Given the description of an element on the screen output the (x, y) to click on. 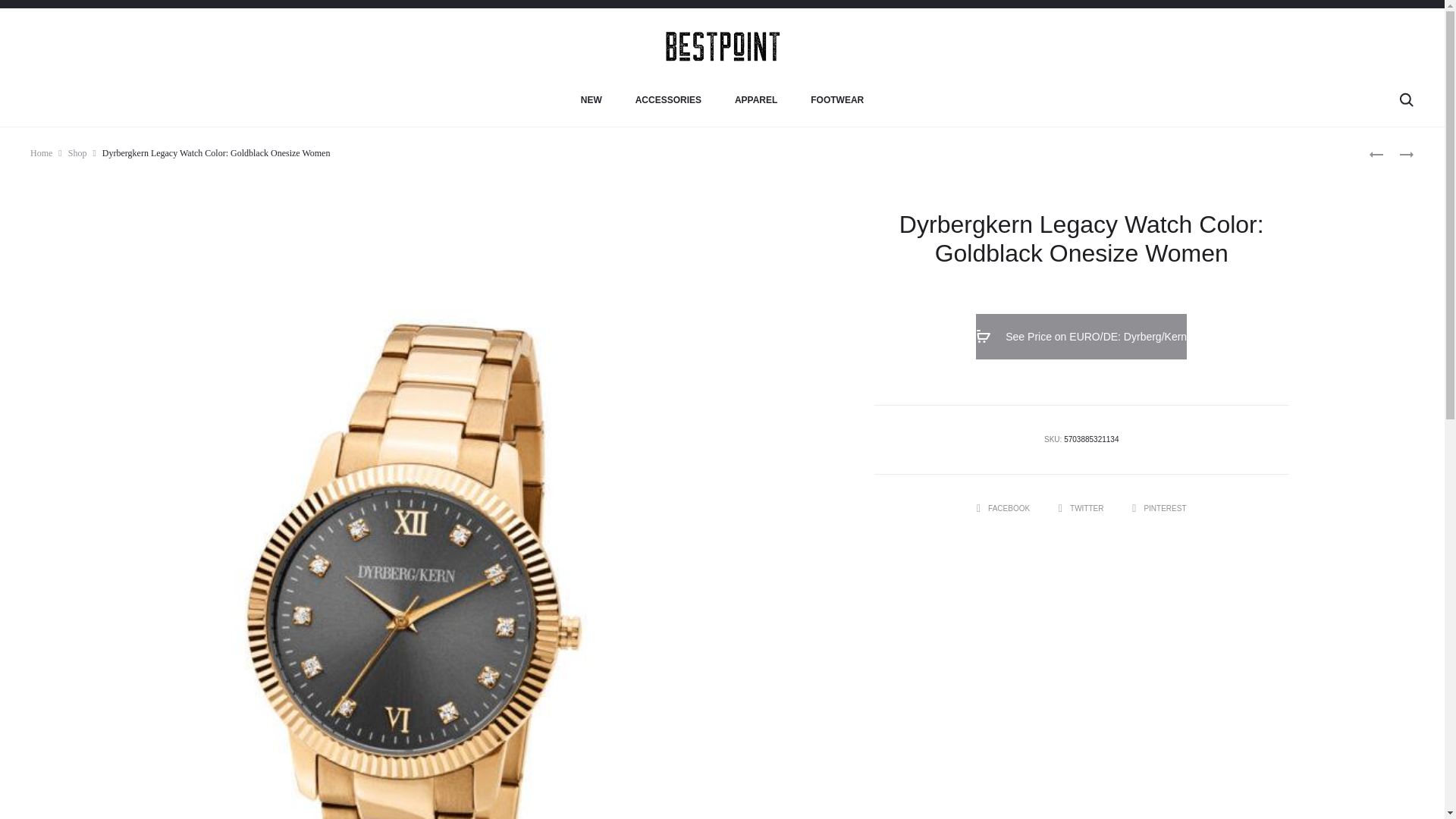
TWITTER (1081, 508)
FOOTWEAR (836, 100)
Shop (77, 153)
NEW (591, 100)
FACEBOOK (1004, 508)
Home (41, 153)
Search (1406, 99)
APPAREL (756, 100)
PINTEREST (1159, 508)
ACCESSORIES (667, 100)
DYRBERGKERN SENCE TOPPING COLOR: GOLDWHITE ONESIZE WOMEN (1398, 153)
